Given the description of an element on the screen output the (x, y) to click on. 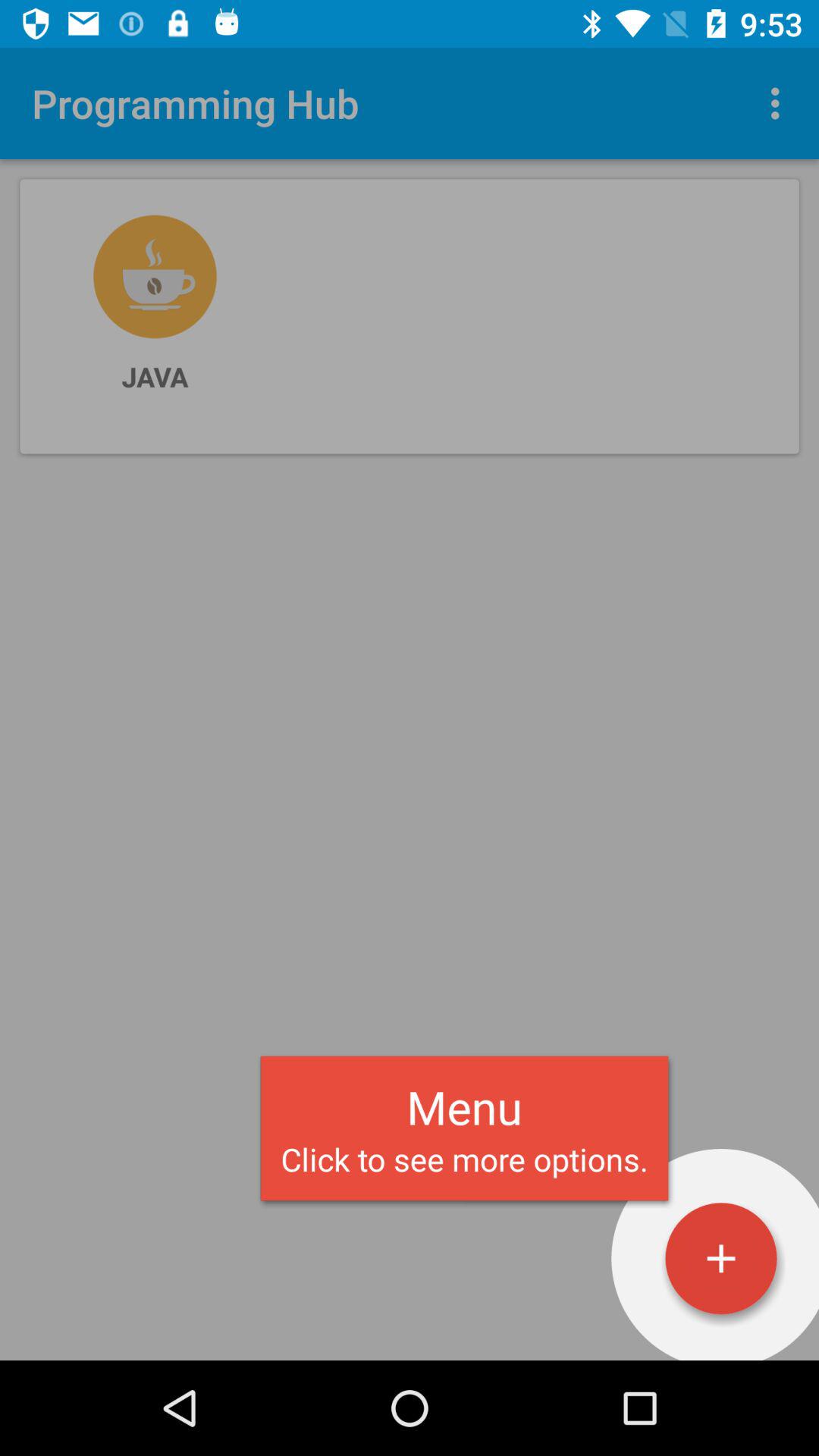
open menu (721, 1258)
